Given the description of an element on the screen output the (x, y) to click on. 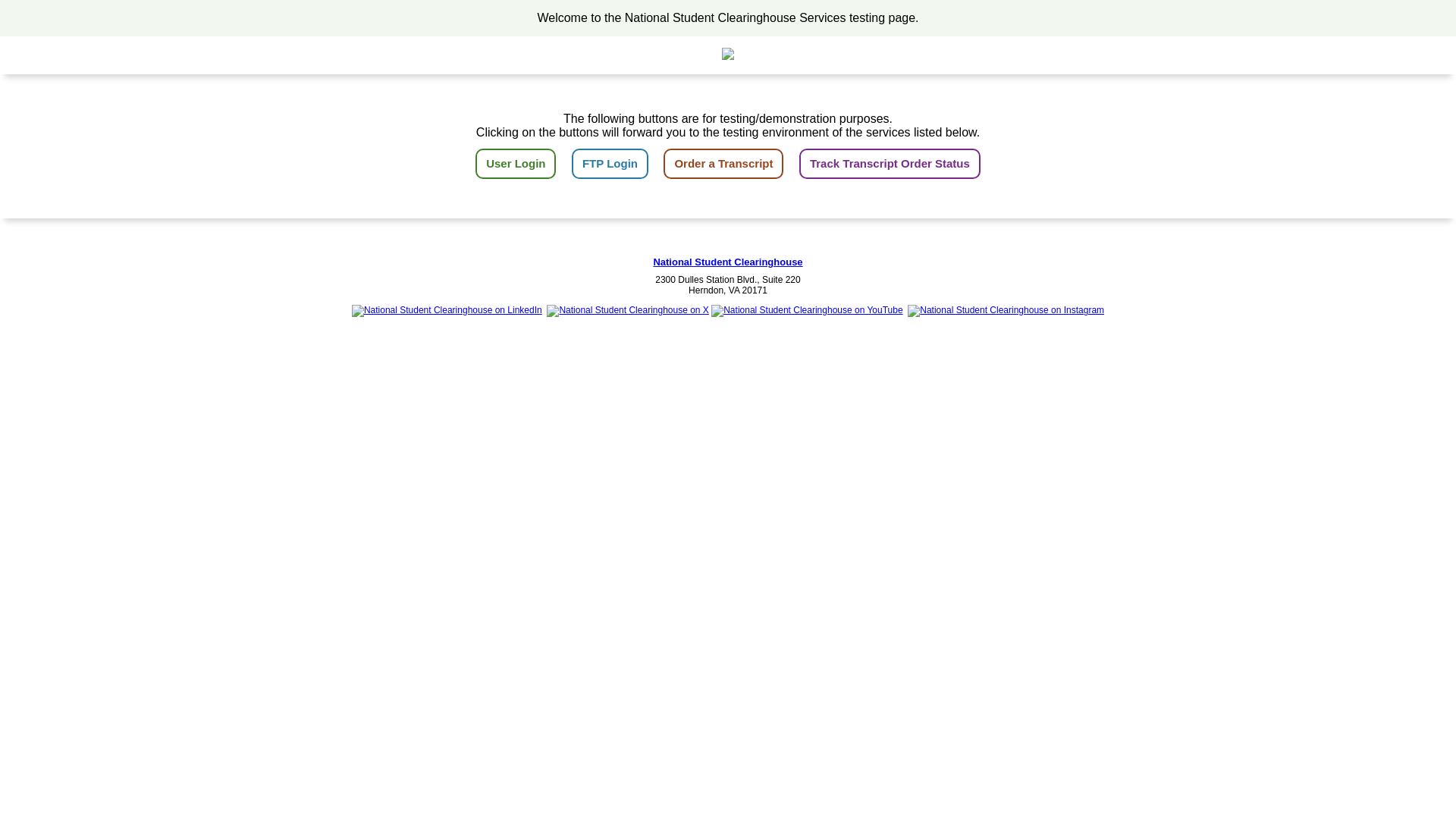
FTP Login (609, 163)
User Login (516, 163)
National Student Clearinghouse (727, 261)
Order a Transcript (723, 163)
Track Transcript Order Status (889, 163)
